Given the description of an element on the screen output the (x, y) to click on. 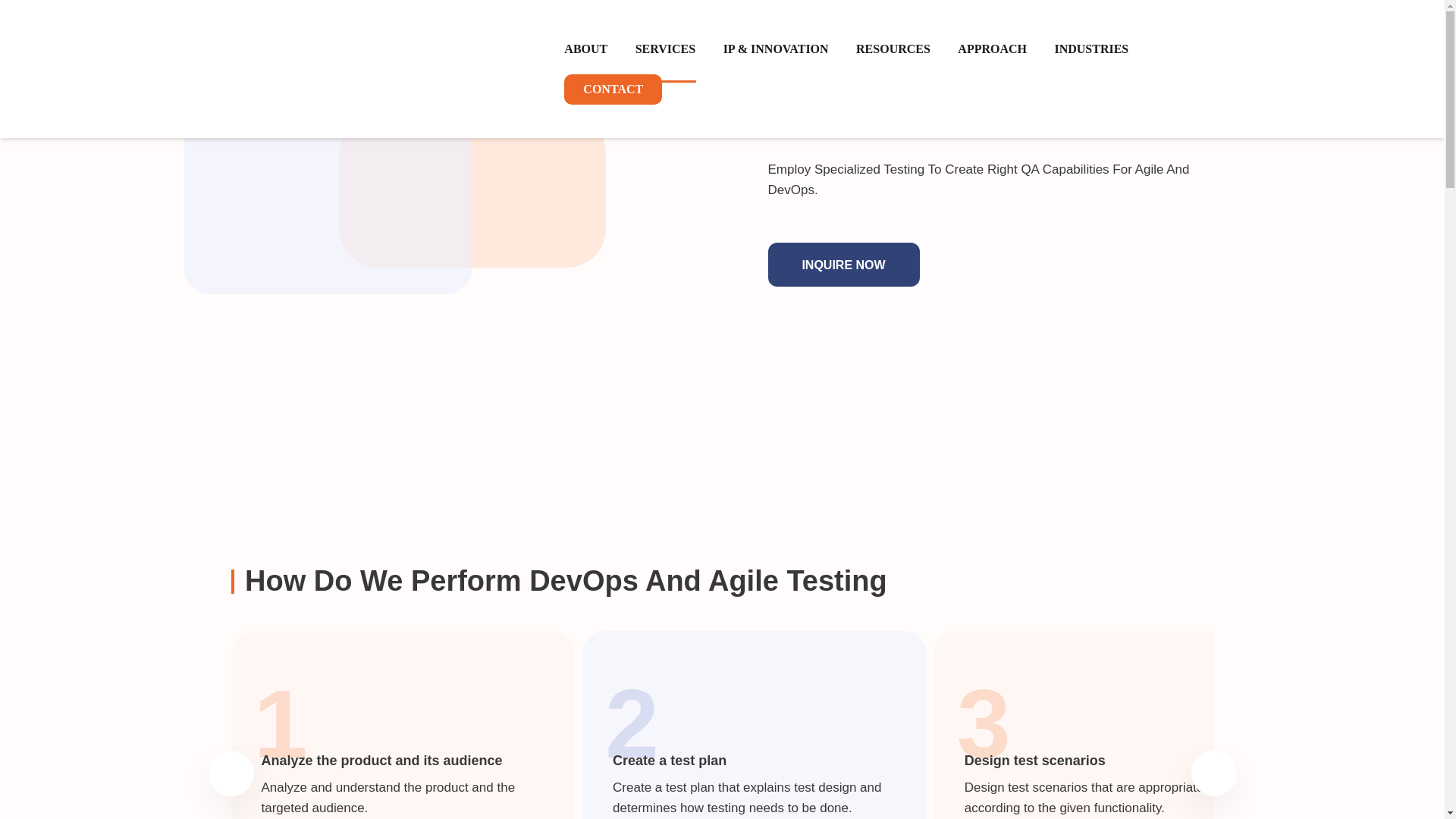
INQUIRE NOW (842, 264)
SERVICES (664, 48)
ABOUT (585, 48)
